Given the description of an element on the screen output the (x, y) to click on. 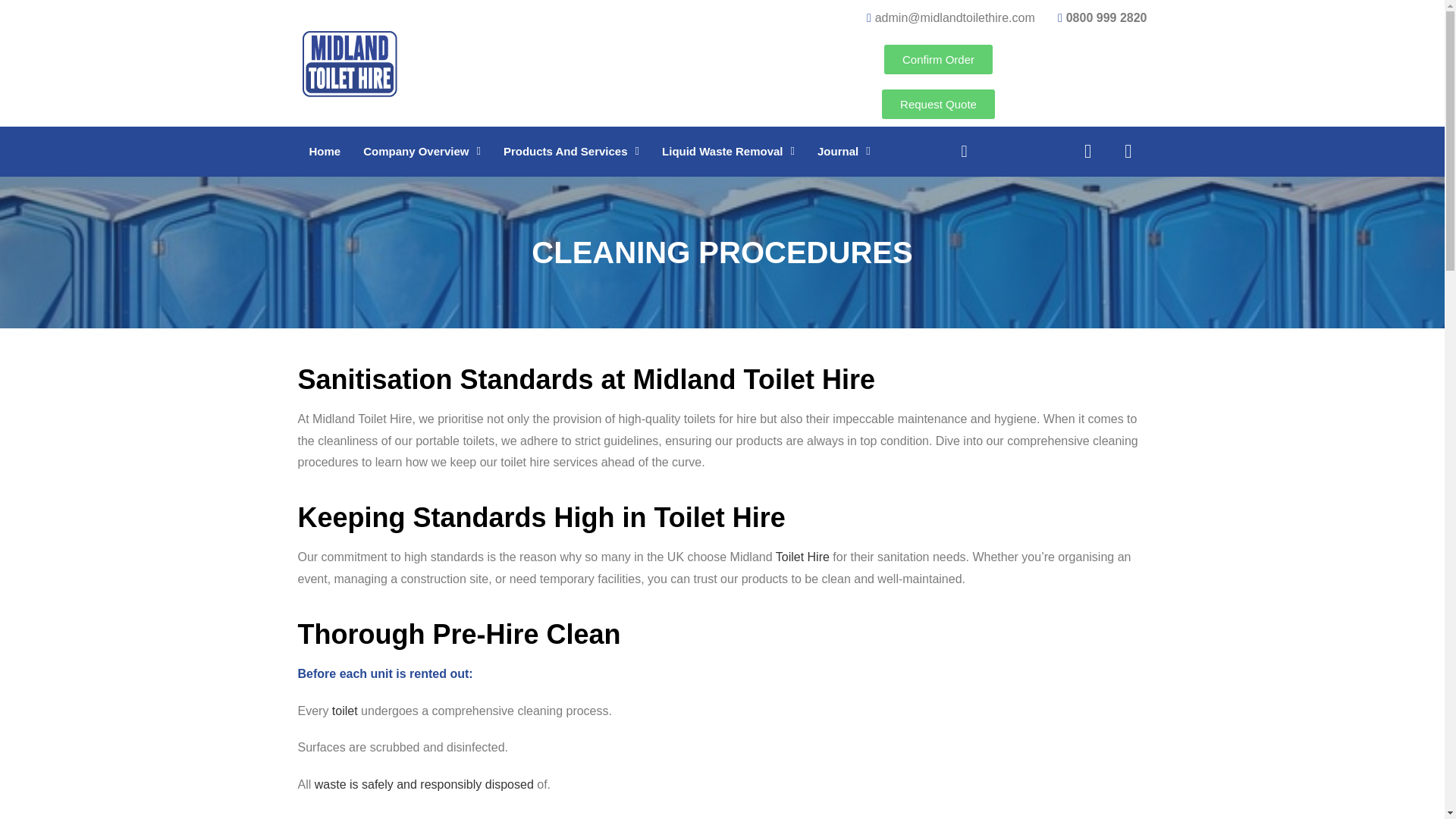
Home (324, 151)
Request Quote (938, 103)
Company Overview (422, 151)
0800 999 2820 (1096, 18)
Toilet Hire (802, 556)
Products And Services (571, 151)
Confirm Order (937, 59)
toilet (344, 710)
